Given the description of an element on the screen output the (x, y) to click on. 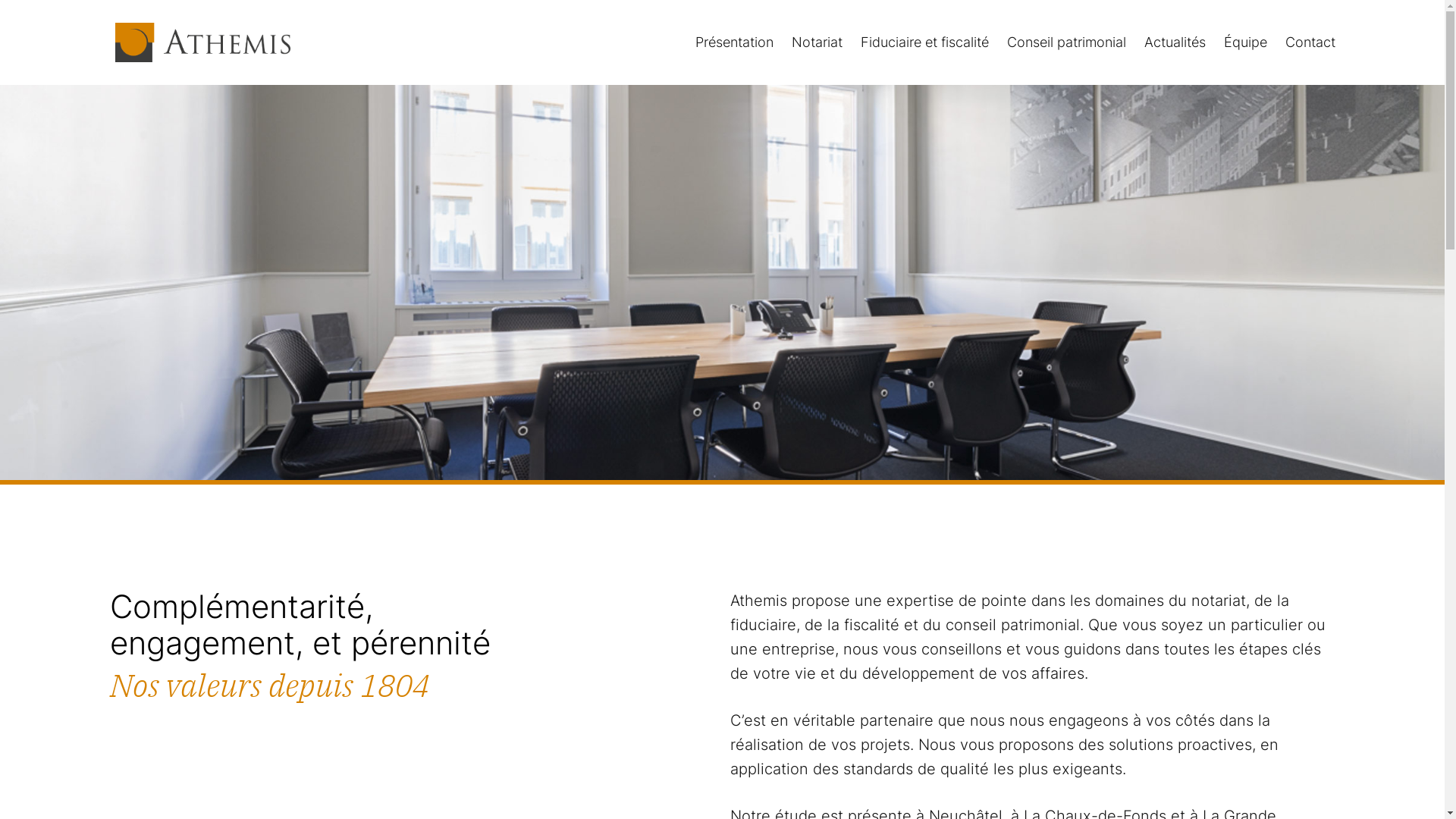
Notariat Element type: text (816, 41)
Conseil patrimonial Element type: text (1066, 41)
Contact Element type: text (1310, 41)
